Given the description of an element on the screen output the (x, y) to click on. 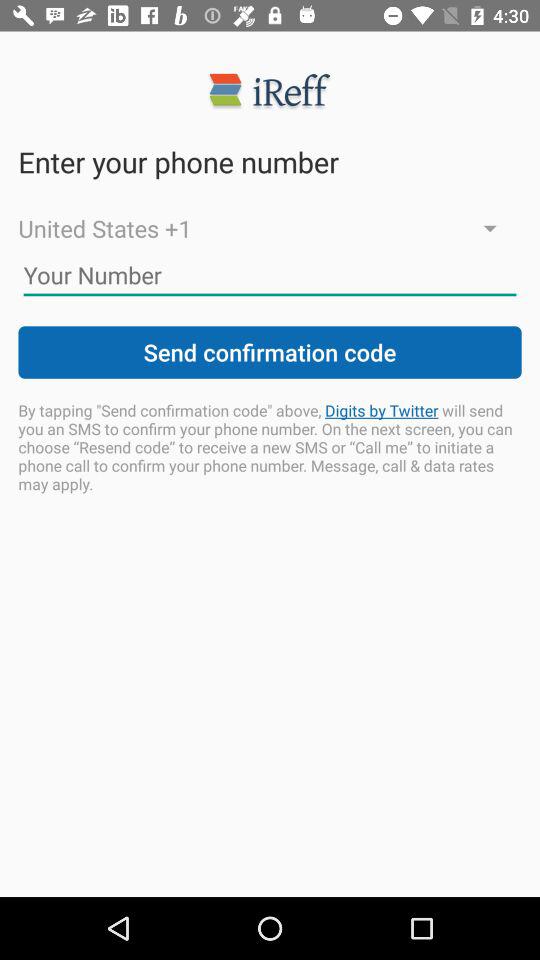
enter phone number (269, 275)
